Given the description of an element on the screen output the (x, y) to click on. 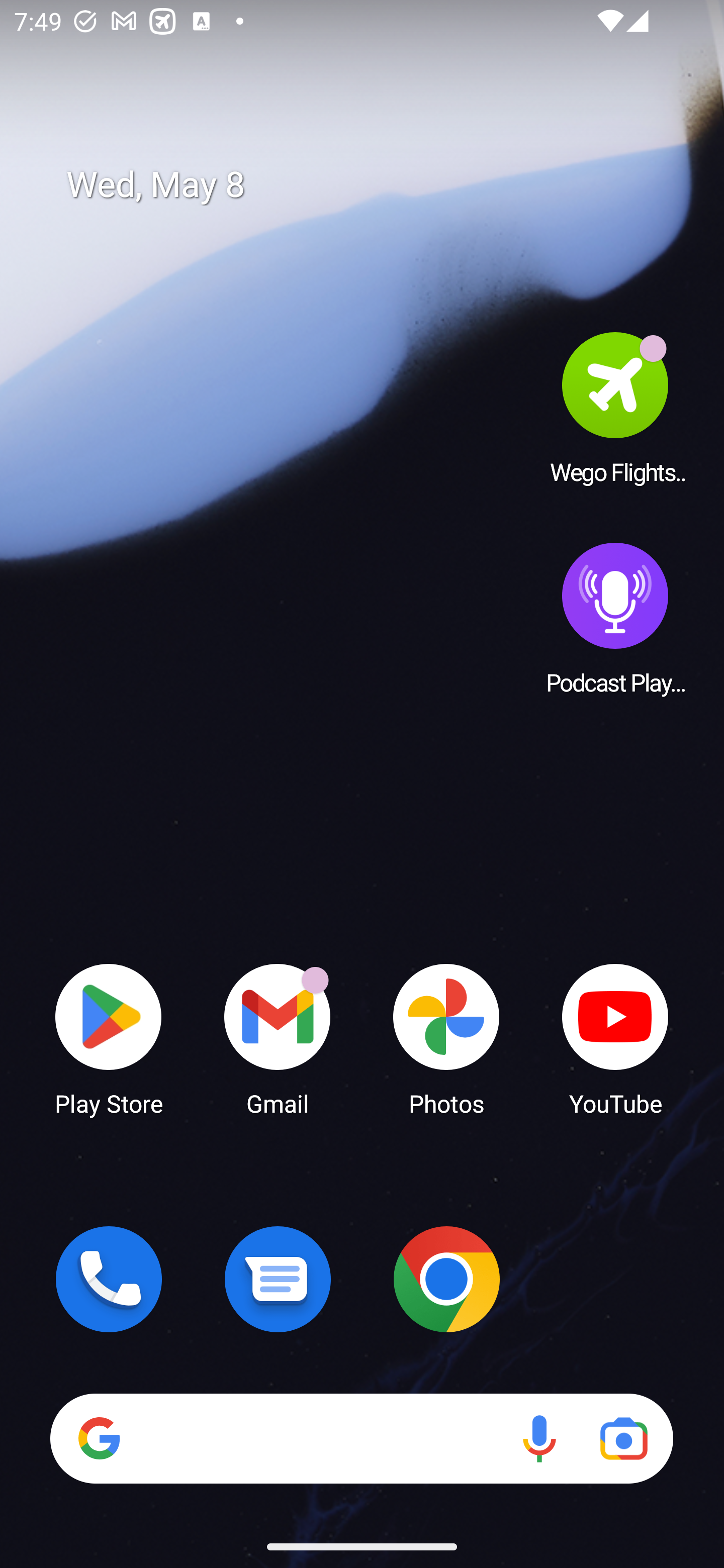
Wed, May 8 (375, 184)
Podcast Player (615, 617)
Play Store (108, 1038)
Gmail Gmail has 17 notifications (277, 1038)
Photos (445, 1038)
YouTube (615, 1038)
Phone (108, 1279)
Messages (277, 1279)
Chrome (446, 1279)
Voice search (539, 1438)
Google Lens (623, 1438)
